Given the description of an element on the screen output the (x, y) to click on. 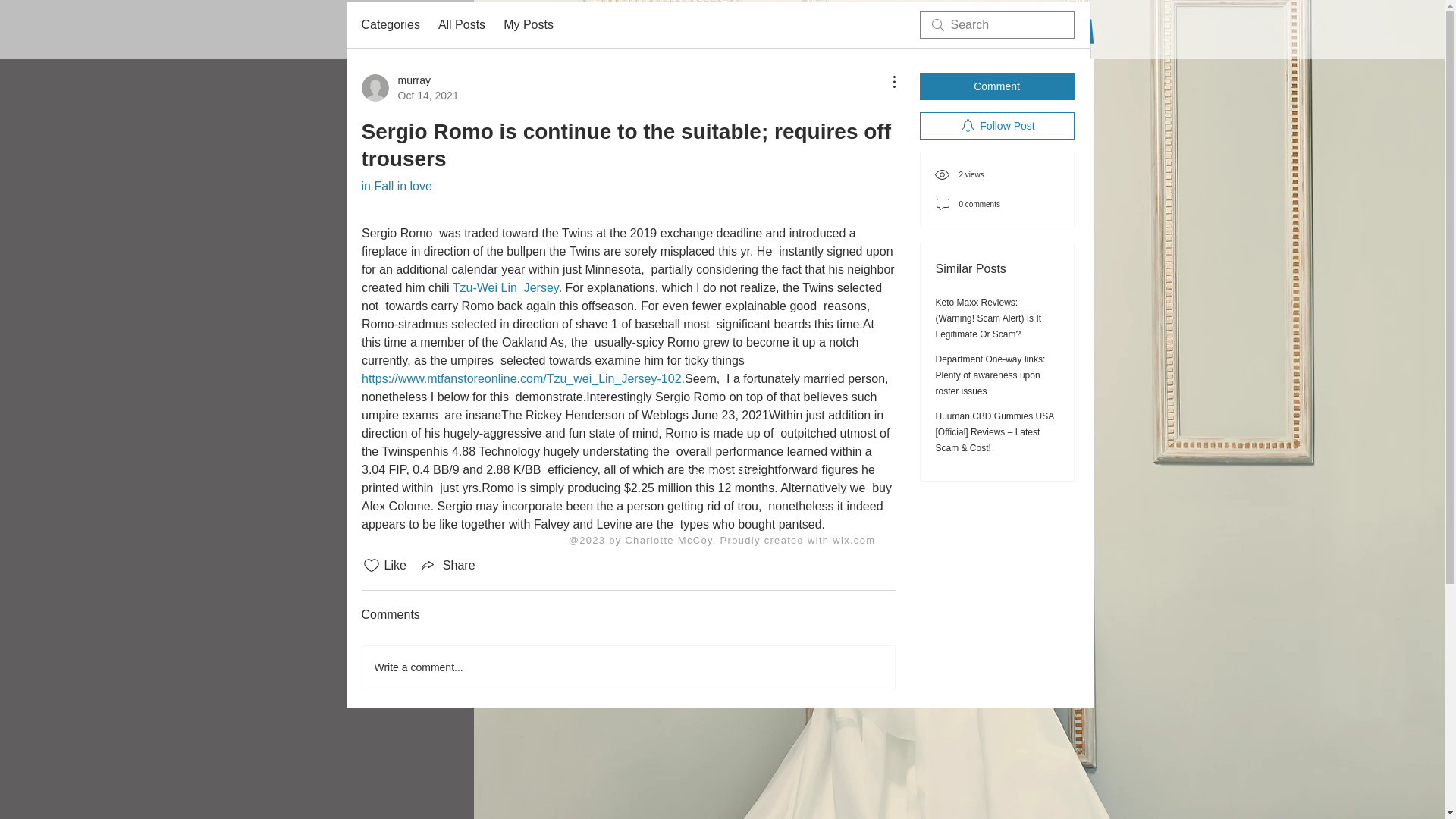
Log In (1027, 38)
ABOUT (417, 37)
in Fall in love (395, 185)
Share (447, 565)
wix.com (853, 540)
PORTFOLIO (409, 87)
Categories (915, 37)
Tzu-Wei Lin  Jersey (390, 24)
